Given the description of an element on the screen output the (x, y) to click on. 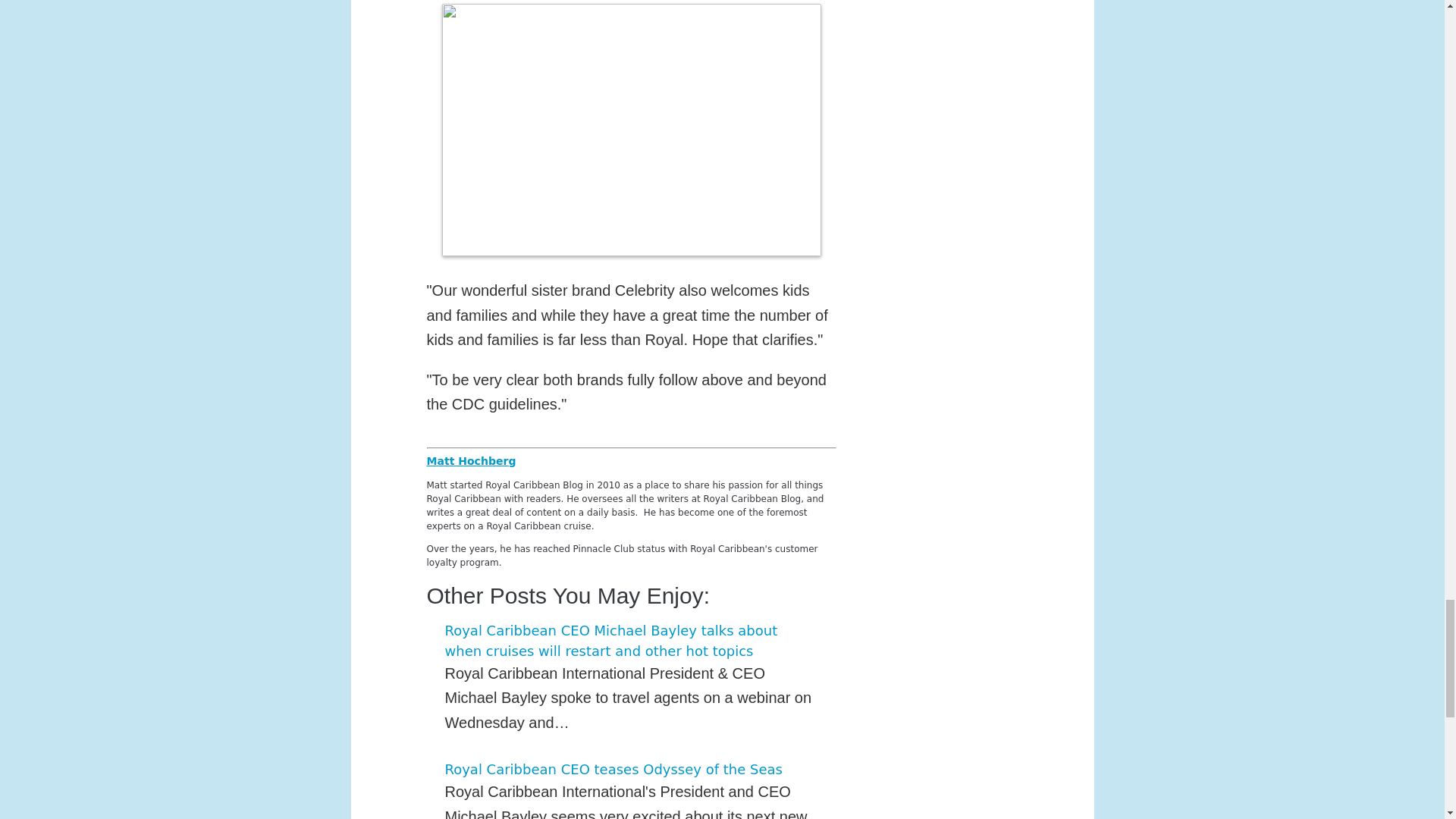
Matt Hochberg (470, 460)
Royal Caribbean CEO teases Odyssey of the Seas (612, 769)
